Given the description of an element on the screen output the (x, y) to click on. 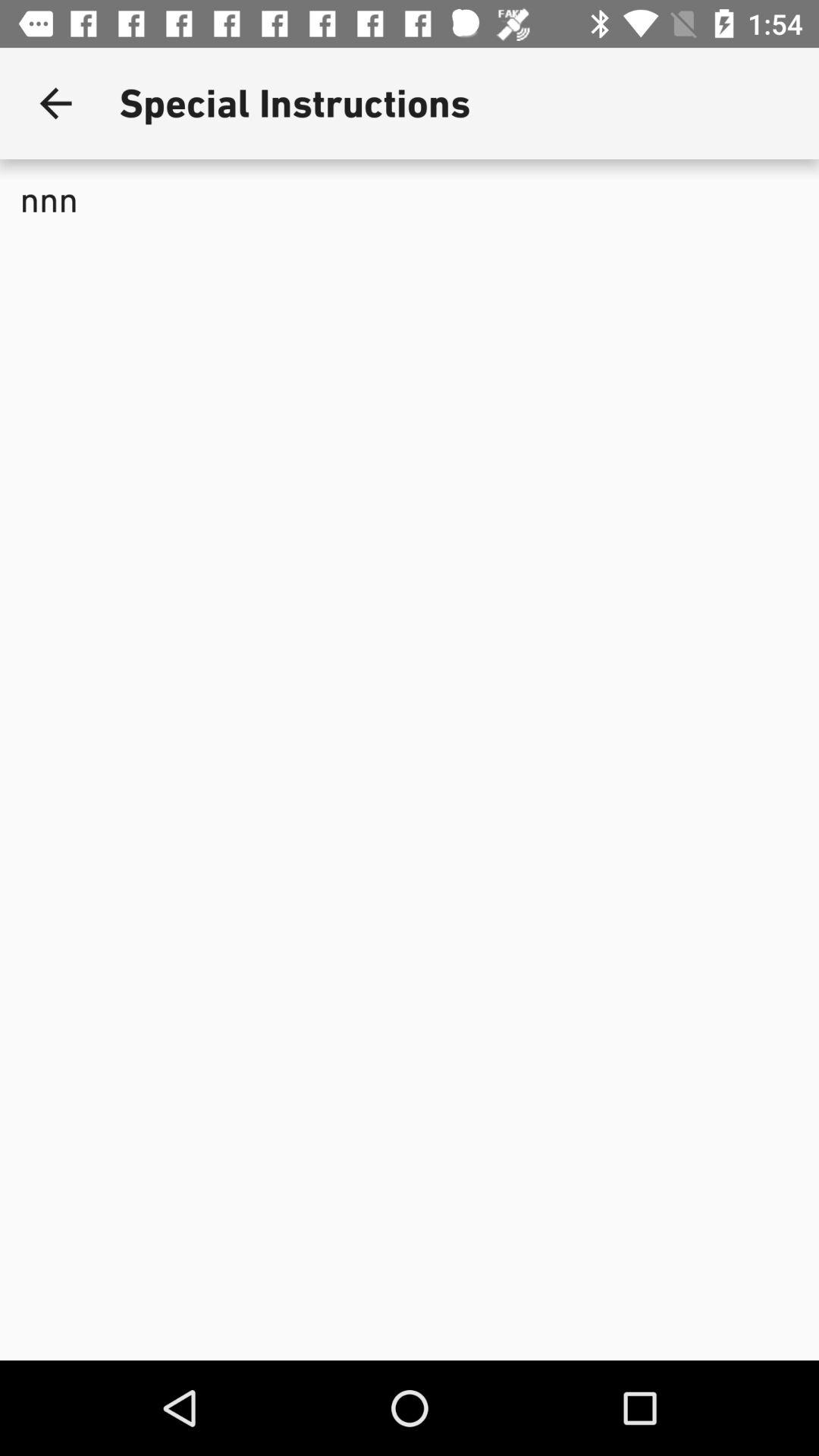
launch nnn item (409, 307)
